Given the description of an element on the screen output the (x, y) to click on. 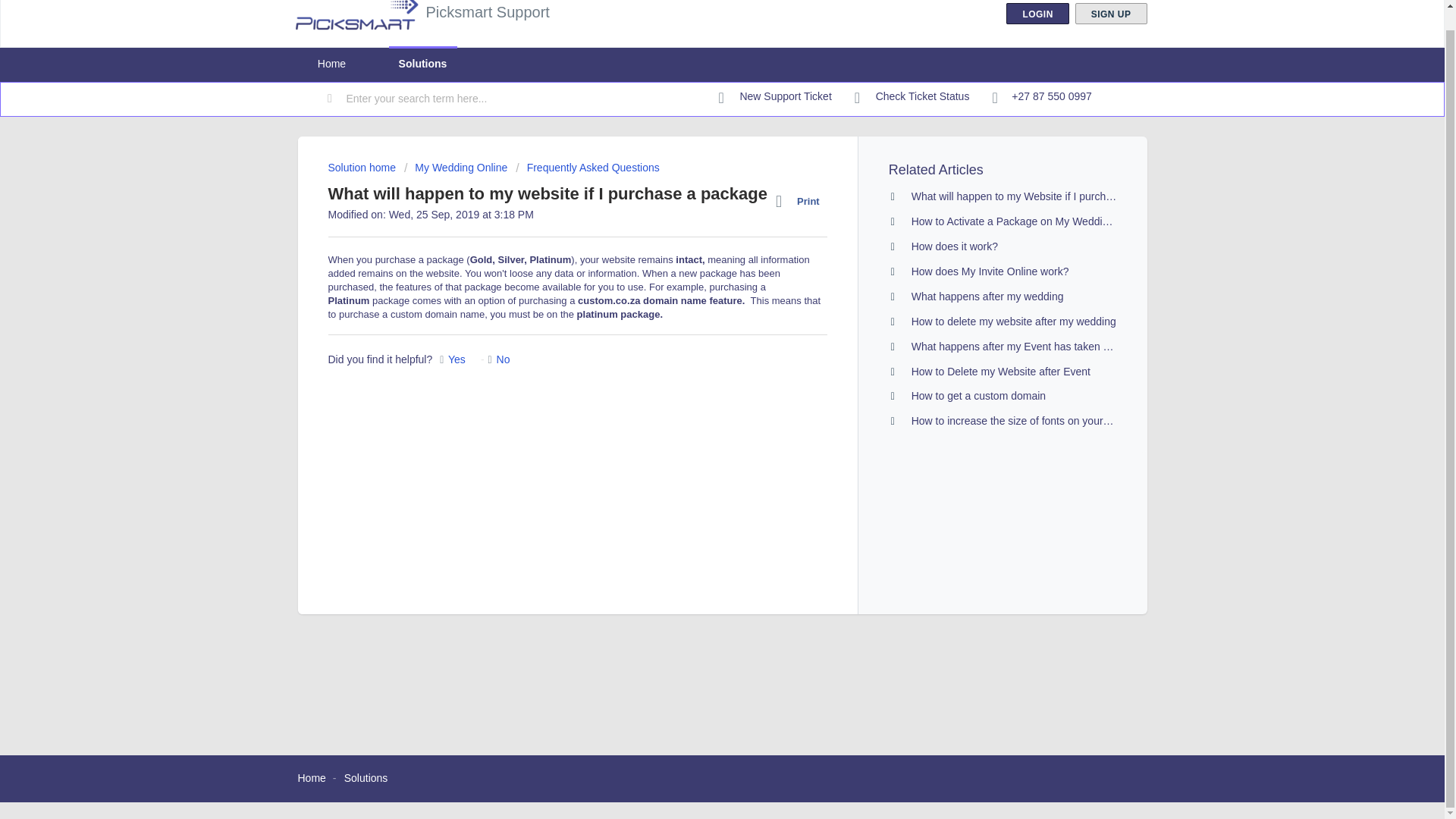
Solutions (422, 63)
How to increase the size of fonts on your wedding website (1048, 420)
Check ticket status (911, 96)
What happens after my wedding (987, 296)
How does it work? (954, 246)
How to Delete my Website after Event (1000, 371)
Home (331, 63)
Print (801, 201)
New Support Ticket (775, 96)
How to delete my website after my wedding (1013, 321)
Frequently Asked Questions (587, 167)
How to Activate a Package on My Wedding Online (1029, 221)
How does My Invite Online work? (989, 271)
New support ticket (775, 96)
Print this Article (801, 201)
